Given the description of an element on the screen output the (x, y) to click on. 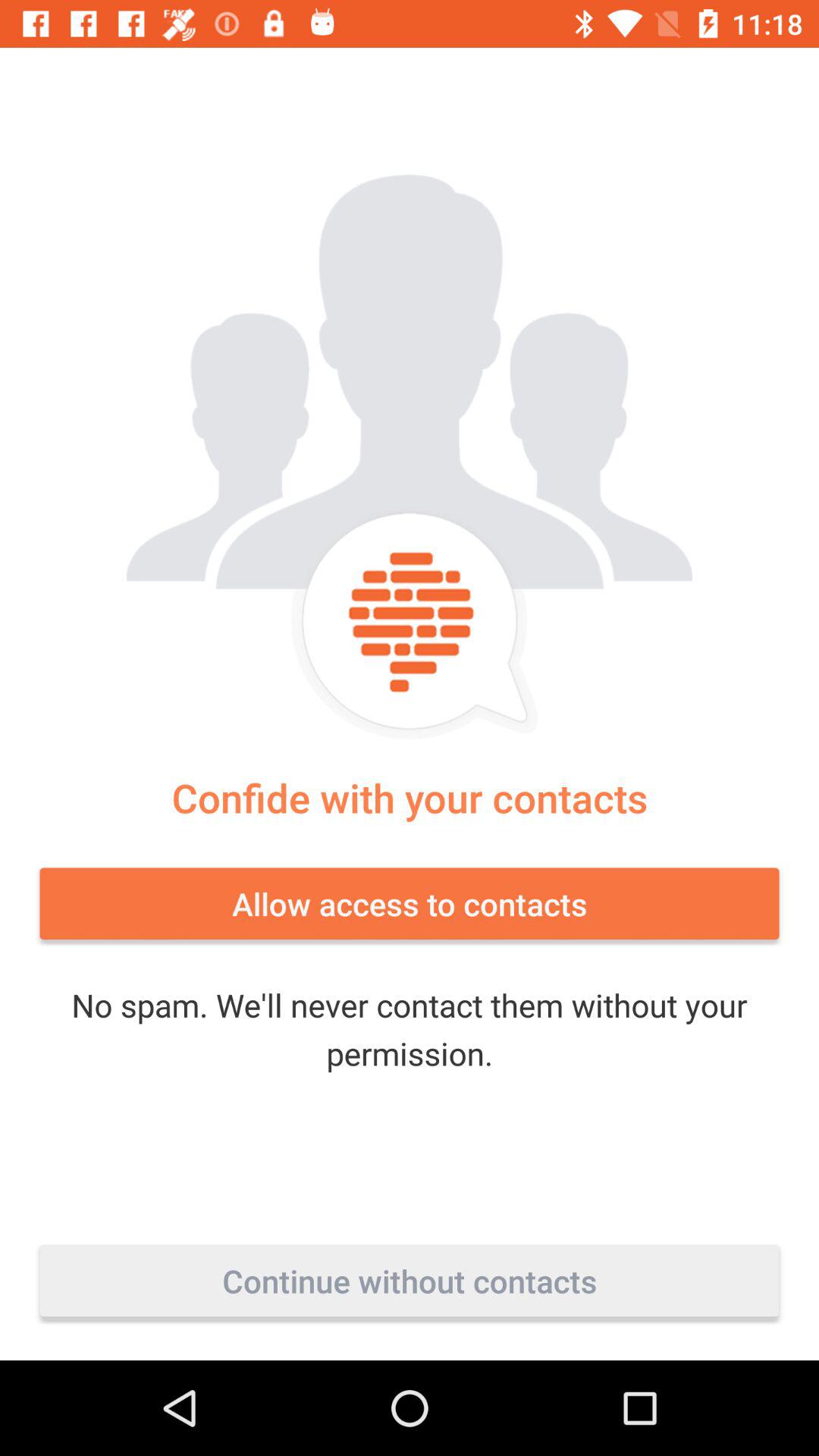
open the item below confide with your (409, 903)
